Given the description of an element on the screen output the (x, y) to click on. 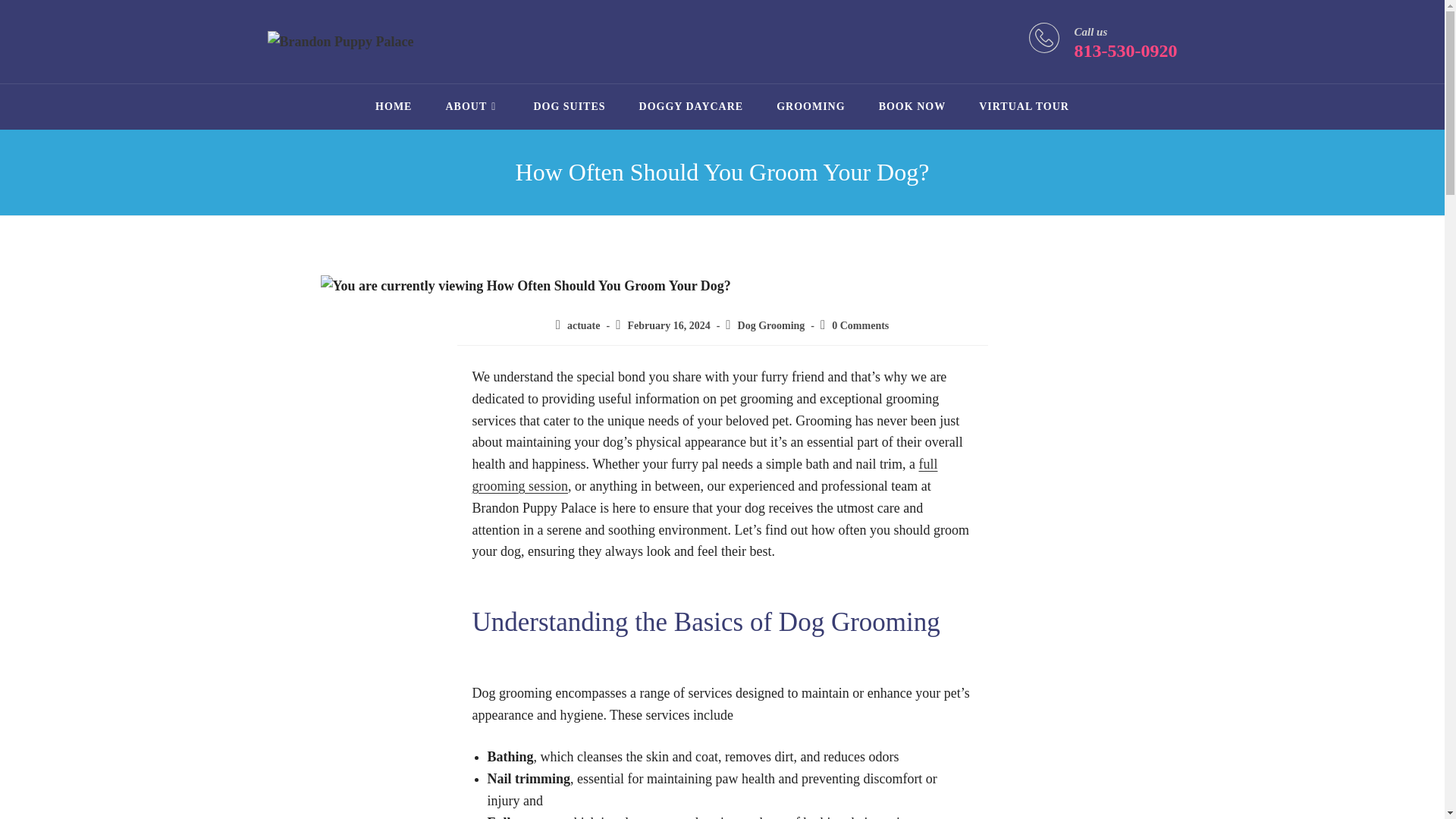
813-530-0920 (1125, 50)
DOG SUITES (568, 106)
Call us (1091, 31)
0 Comments (859, 325)
DOGGY DAYCARE (691, 106)
ABOUT (472, 106)
BOOK NOW (911, 106)
HOME (393, 106)
actuate (583, 325)
full grooming session (704, 474)
